Given the description of an element on the screen output the (x, y) to click on. 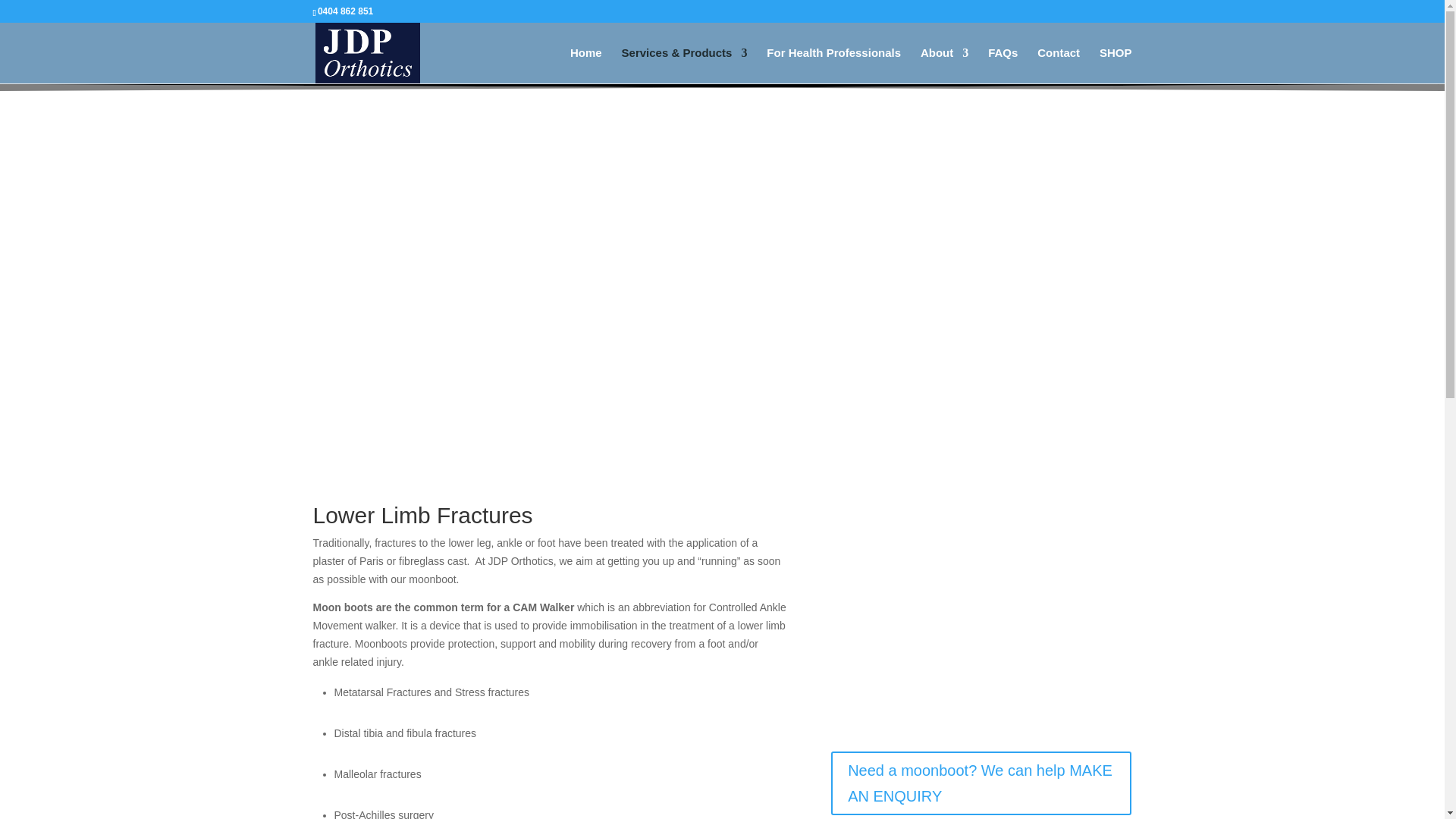
About (944, 65)
Need a moonboot? We can help MAKE AN ENQUIRY (981, 782)
Home (586, 65)
For Health Professionals (834, 65)
SHOP (1115, 65)
Contact (1058, 65)
